Given the description of an element on the screen output the (x, y) to click on. 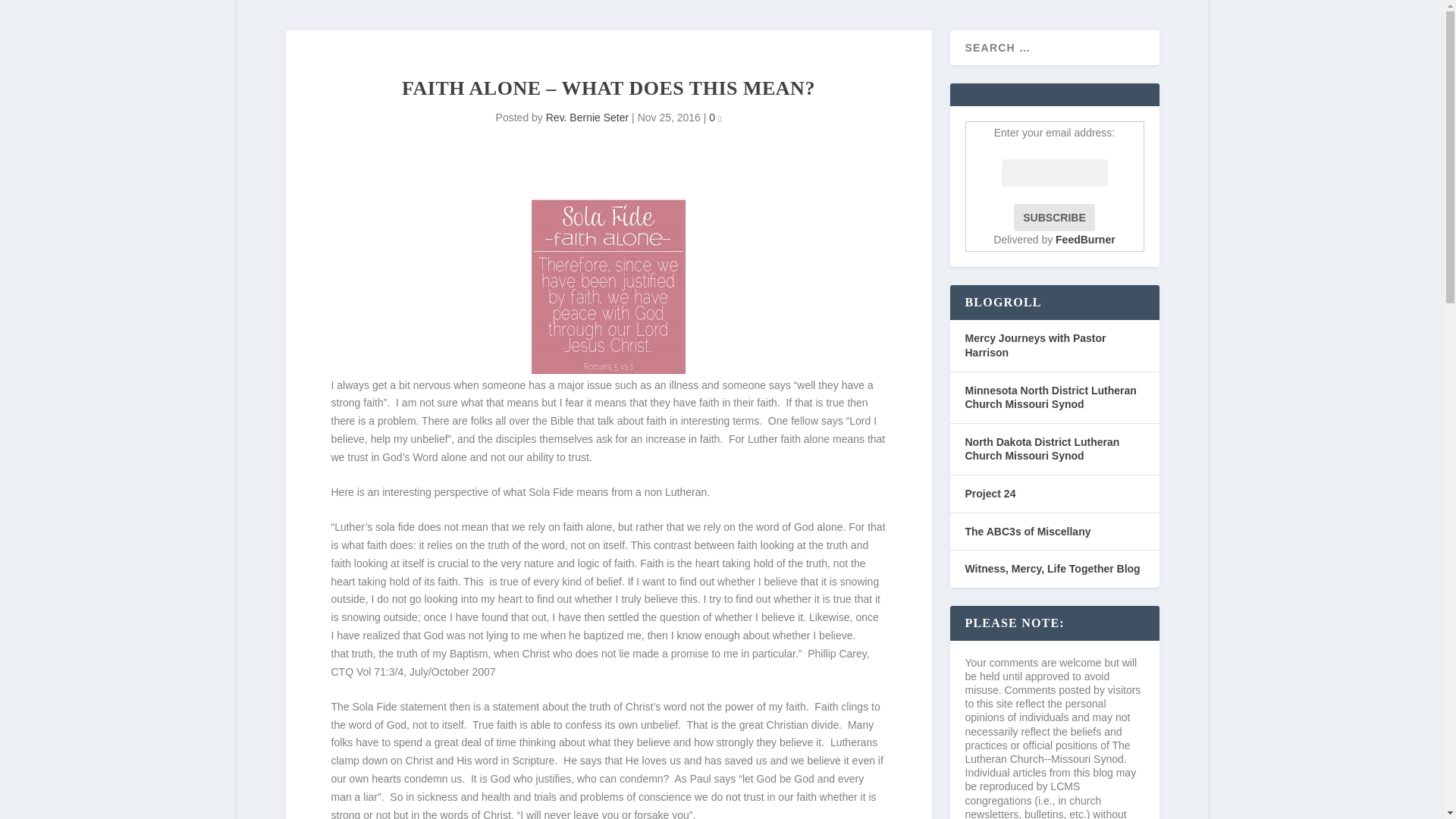
Posts by Rev. Bernie Seter (587, 117)
Rev. Bernie Seter (587, 117)
0 (714, 117)
Search (31, 13)
